Given the description of an element on the screen output the (x, y) to click on. 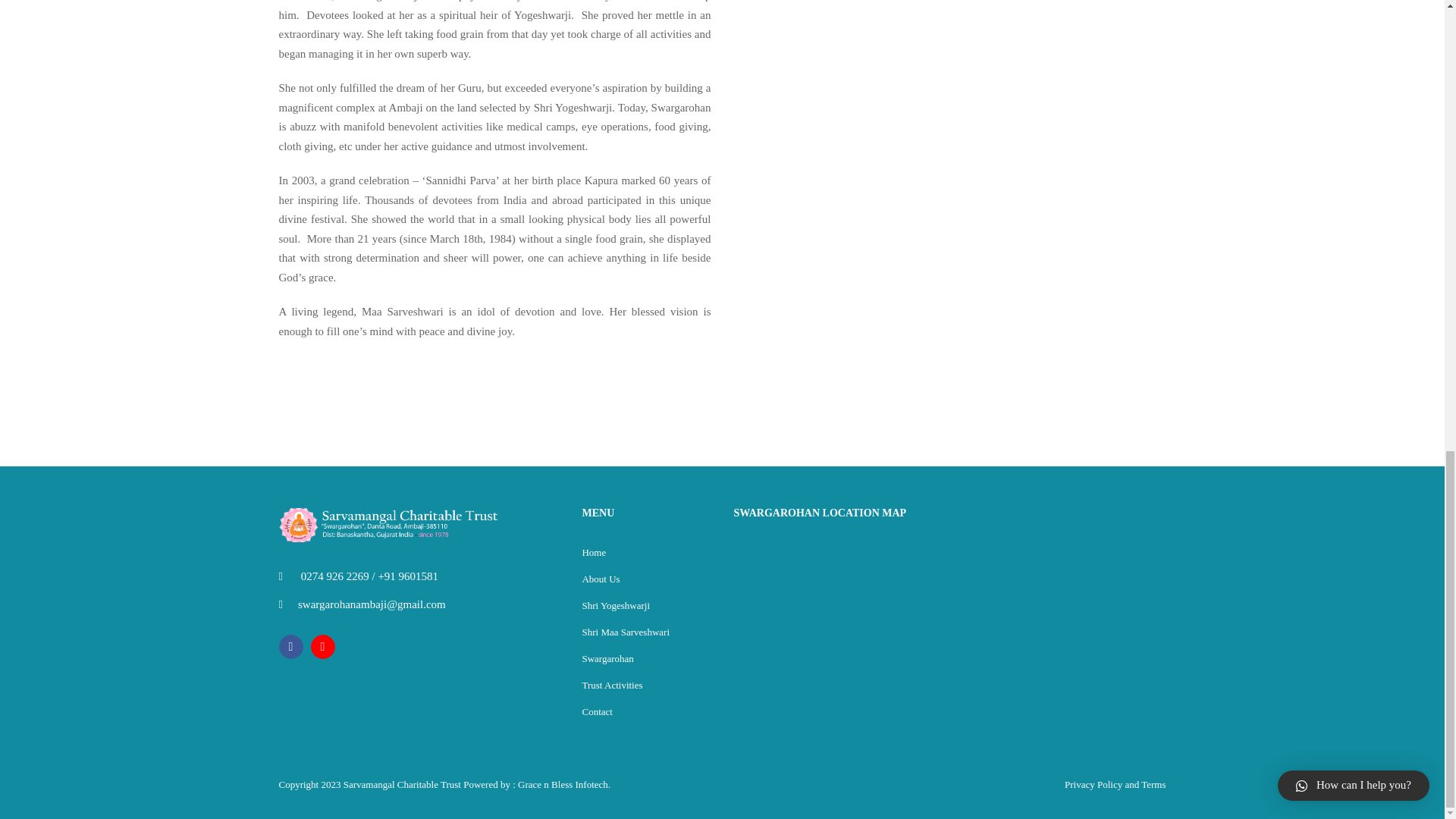
Trust Activities (611, 685)
Copyright 2023 Sarvamangal Charitable Trust (371, 784)
Privacy Policy and Terms (1115, 784)
Shri Yogeshwarji (614, 604)
Shri Maa Sarveshwari (624, 632)
About Us (600, 578)
Swargarohan (606, 658)
Home (592, 552)
Contact (595, 711)
